Given the description of an element on the screen output the (x, y) to click on. 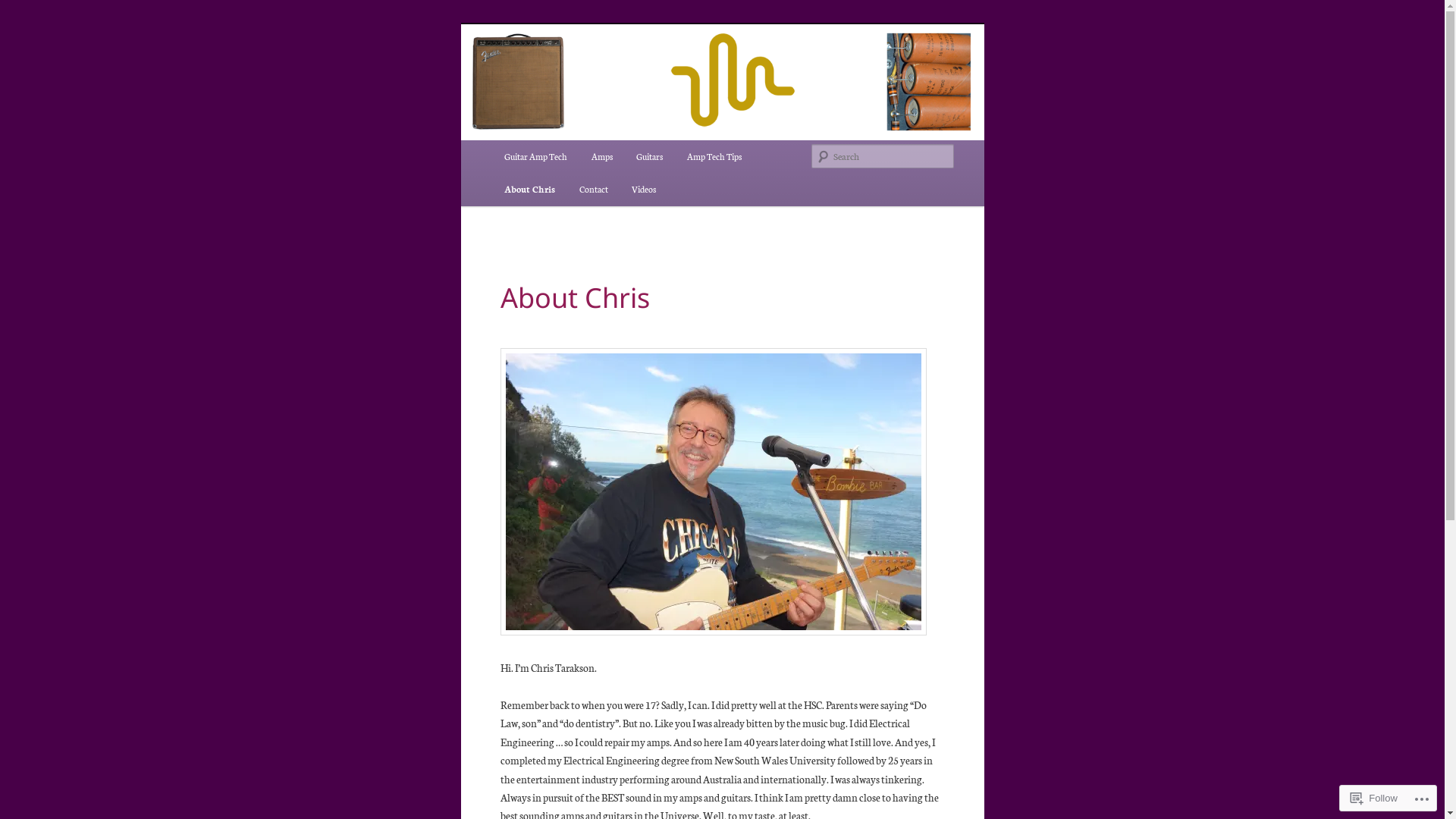
Guitars Element type: text (649, 156)
Amps Element type: text (601, 156)
Follow Element type: text (1373, 797)
Search Element type: text (20, 9)
Skip to primary content Element type: text (22, 22)
The Guitar Amp Tech Element type: text (612, 78)
About Chris Element type: text (529, 188)
Videos Element type: text (643, 188)
Amp Tech Tips Element type: text (713, 156)
Guitar Amp Tech Element type: text (535, 156)
Contact Element type: text (593, 188)
